Given the description of an element on the screen output the (x, y) to click on. 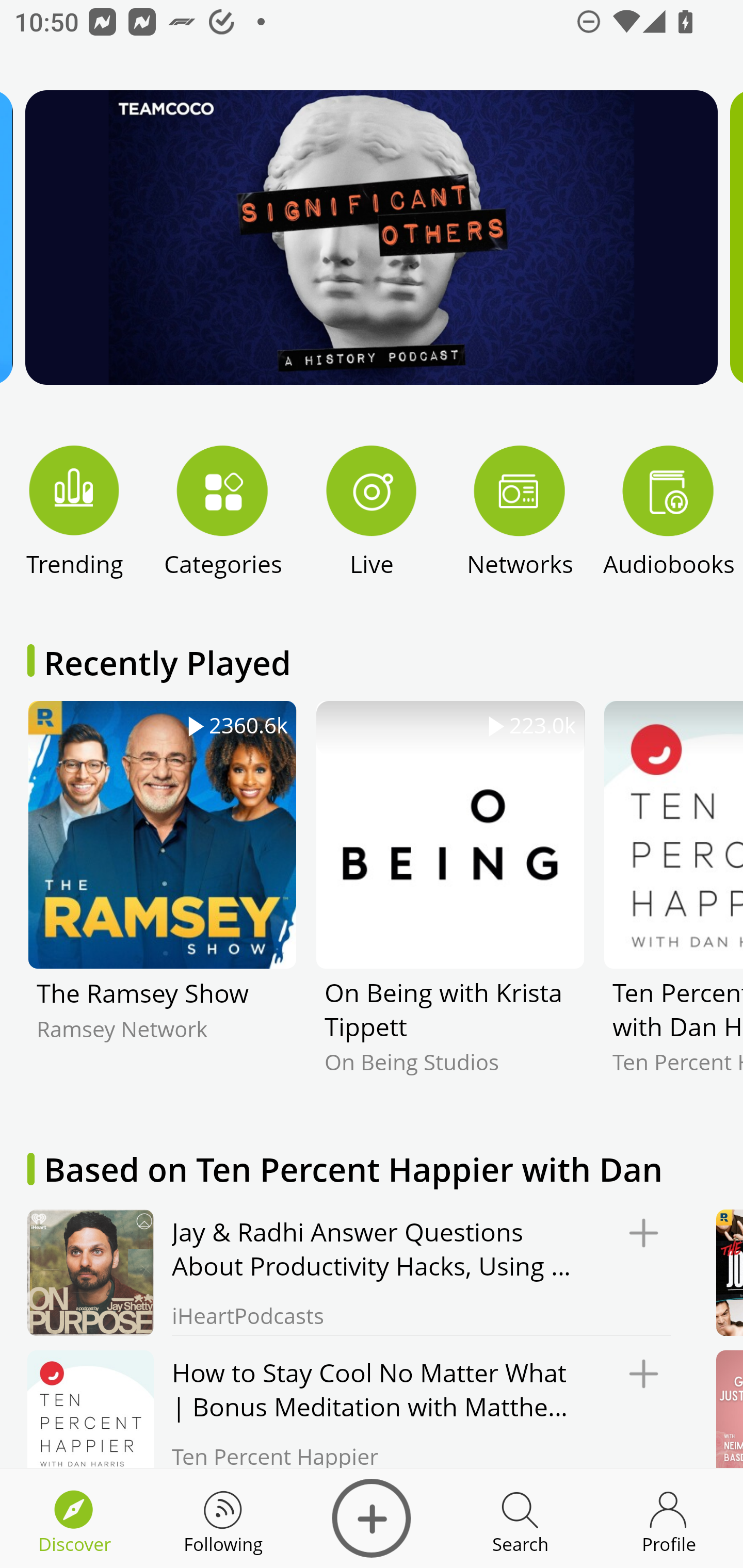
2360.6k The Ramsey Show Ramsey Network (162, 902)
Discover Following (222, 1518)
Discover (371, 1518)
Discover Search (519, 1518)
Discover Profile (668, 1518)
